Given the description of an element on the screen output the (x, y) to click on. 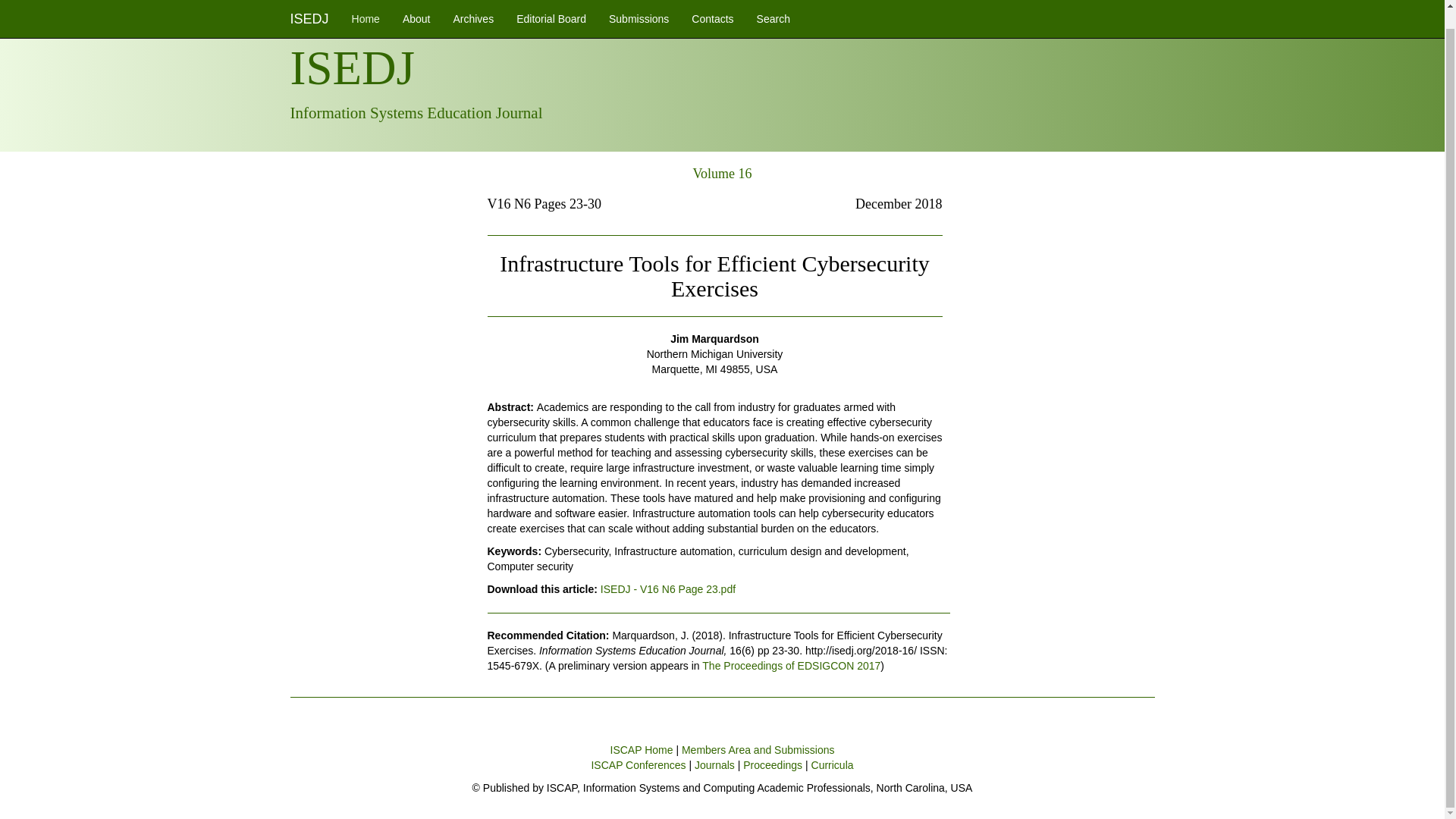
Volume 16 (722, 173)
Editorial Board (550, 9)
Proceedings (772, 765)
ISCAP Home (641, 749)
Members Area and Submissions (757, 749)
Submissions (637, 9)
Search (773, 9)
ISCAP Conferences (638, 765)
Contacts (711, 9)
The Proceedings of EDSIGCON 2017 (790, 665)
